Given the description of an element on the screen output the (x, y) to click on. 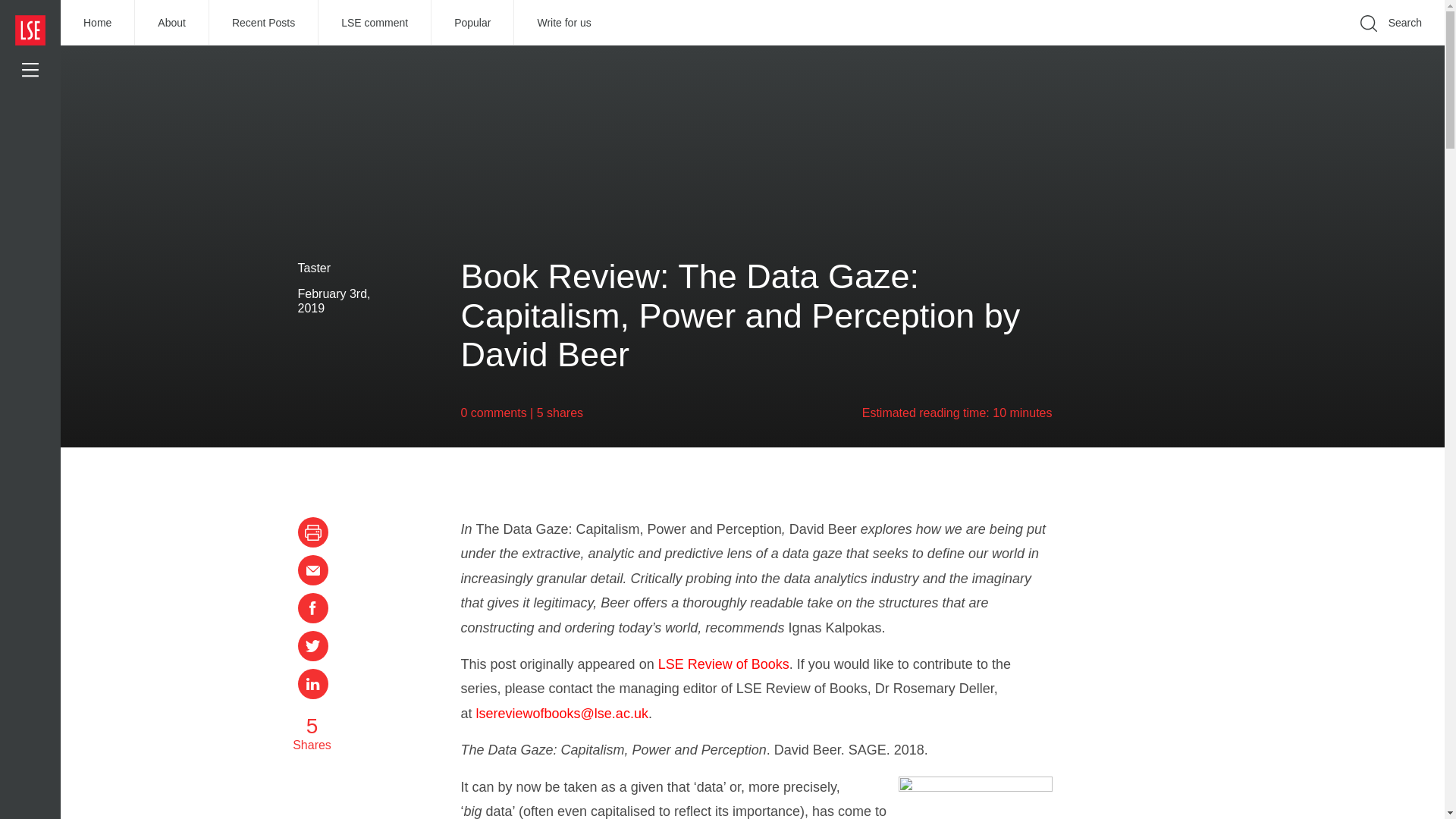
LSE Review of Books (723, 663)
Go (1190, 44)
Home (98, 22)
Popular (471, 22)
About (172, 22)
0 comments (494, 412)
Write for us (562, 22)
Recent Posts (263, 22)
LSE comment (374, 22)
